Given the description of an element on the screen output the (x, y) to click on. 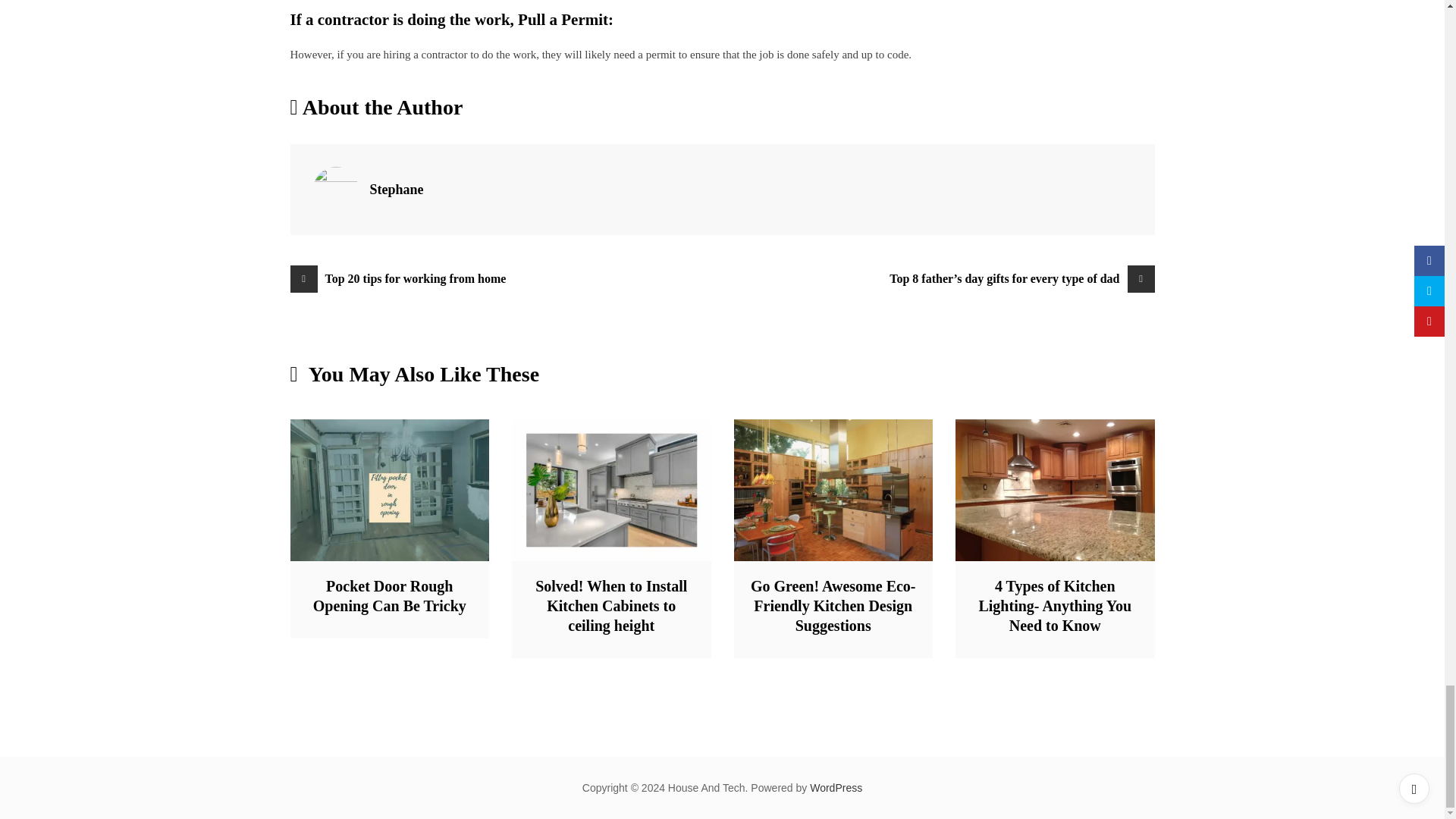
Solved! When to Install Kitchen Cabinets to ceiling height (611, 605)
4 (611, 490)
Top 20 tips for working from home (505, 278)
Stephane (396, 189)
Pocket Door Rough Opening Can Be Tricky (389, 596)
1 (389, 490)
